Given the description of an element on the screen output the (x, y) to click on. 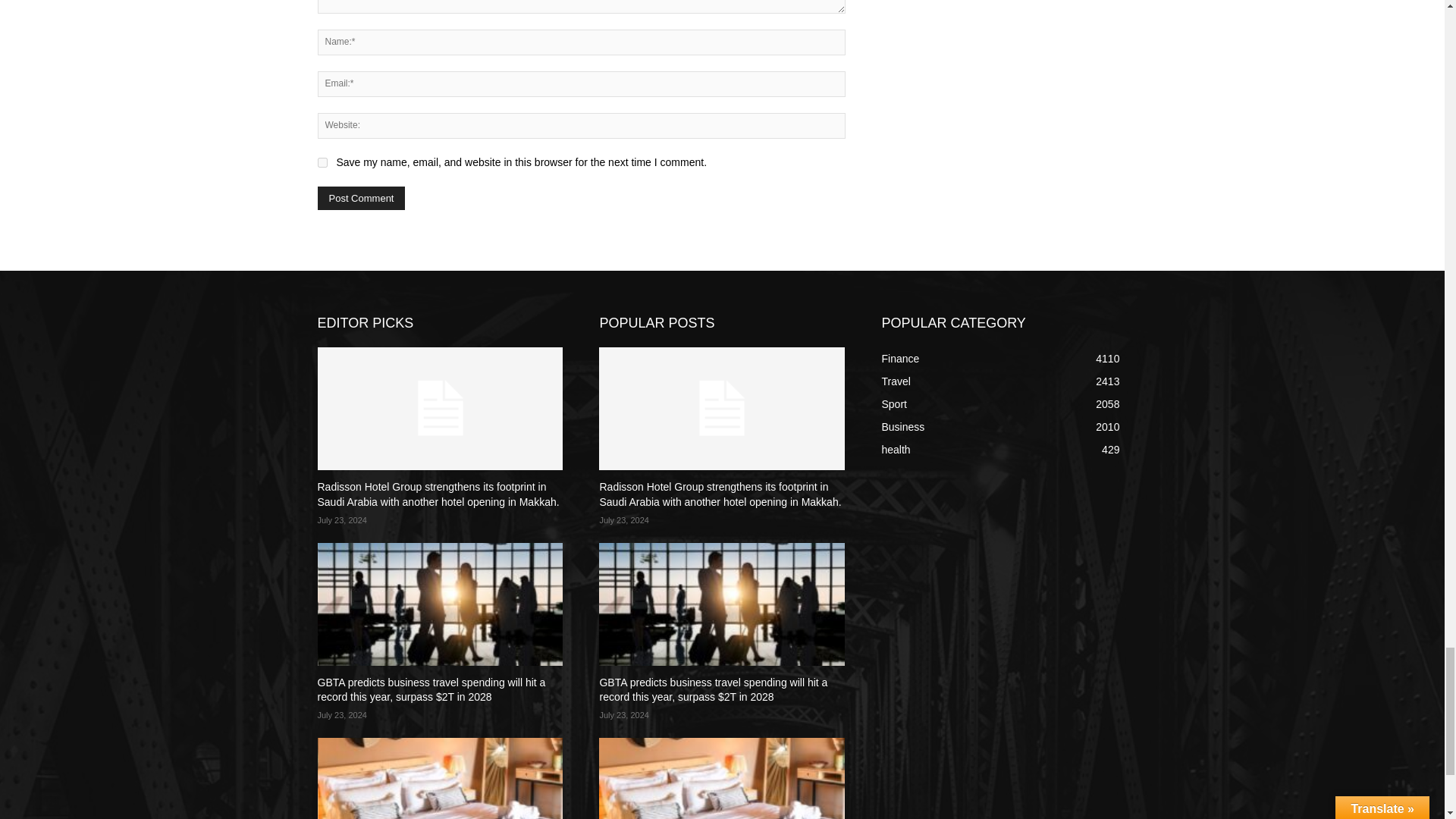
yes (321, 162)
Post Comment (360, 197)
